Given the description of an element on the screen output the (x, y) to click on. 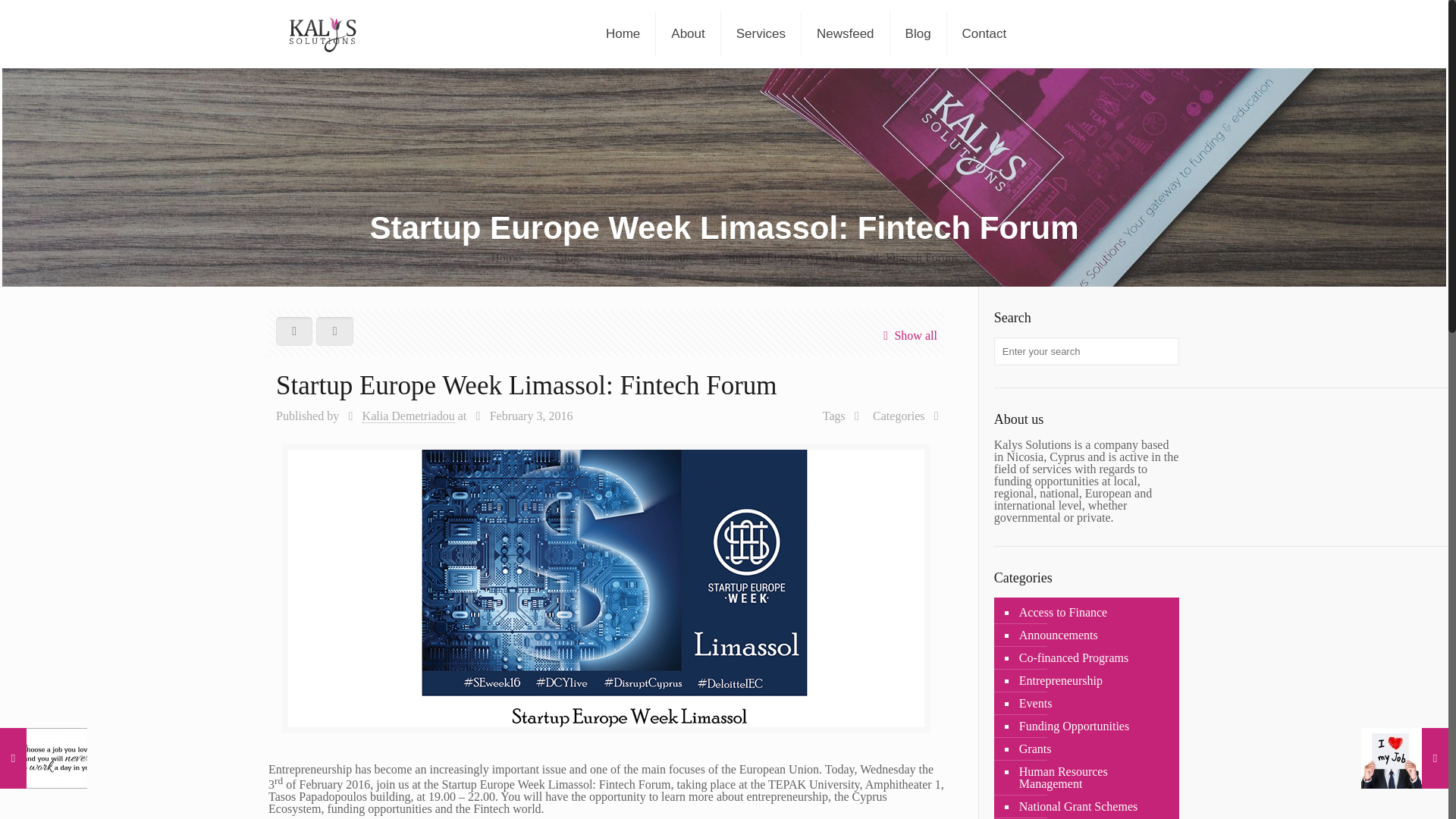
Home (504, 256)
Newsfeed (845, 33)
Contact (984, 33)
About (688, 33)
Announcements (653, 256)
Blog (567, 256)
Kalia Demetriadou (408, 416)
Show all (907, 334)
Home (623, 33)
Services (761, 33)
